Given the description of an element on the screen output the (x, y) to click on. 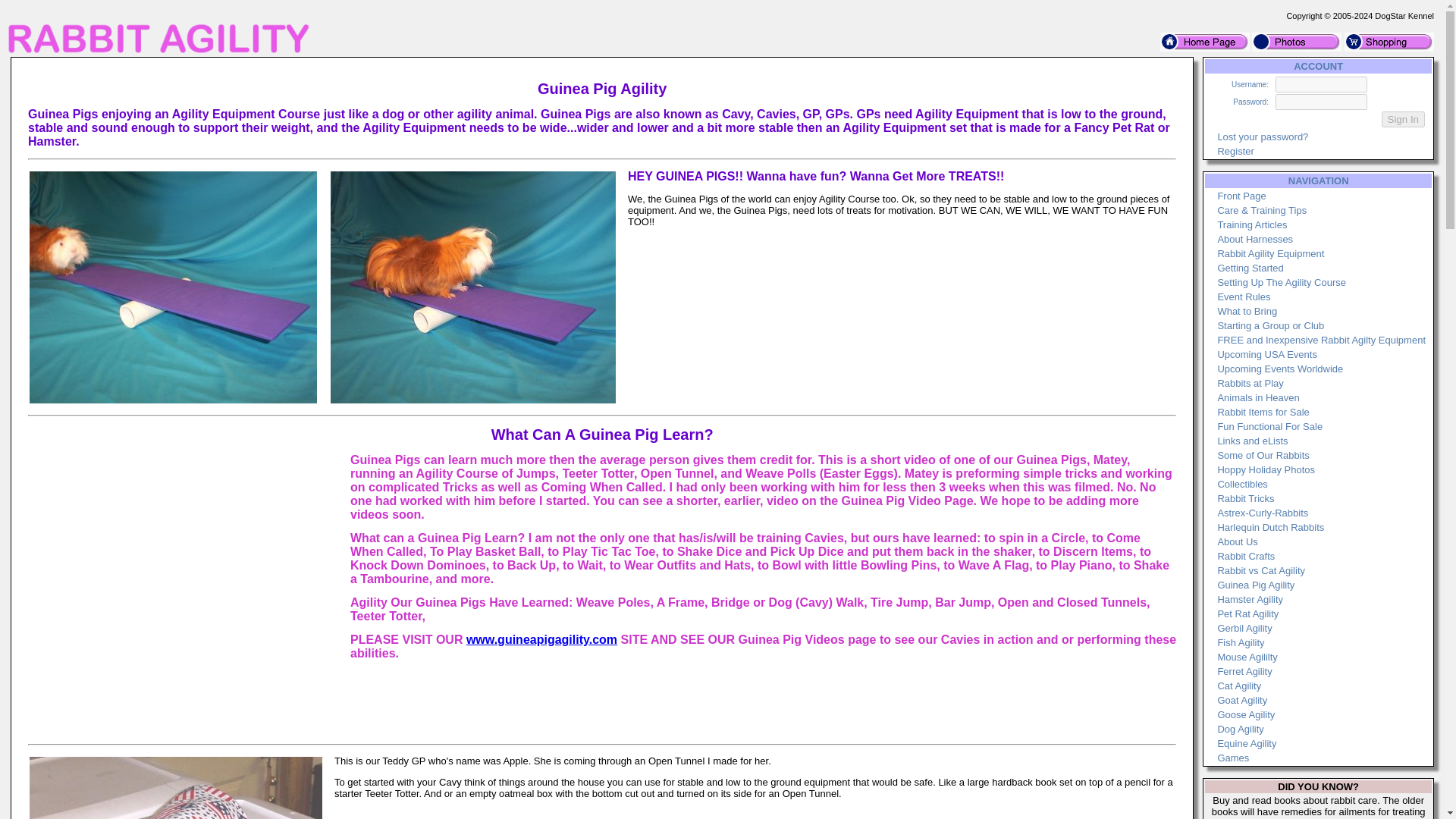
Rabbit Agility Equipment (1270, 253)
Front Page (1241, 195)
Upcoming Events Worldwide (1279, 368)
Setting Up The Agility Course (1281, 282)
Some of Our Rabbits (1262, 455)
Getting Started (1249, 267)
FREE and Inexpensive Rabbit Agilty Equipment (1321, 339)
Sign In (1403, 119)
Astrex-Curly-Rabbits (1262, 512)
About Harnesses (1254, 238)
